Given the description of an element on the screen output the (x, y) to click on. 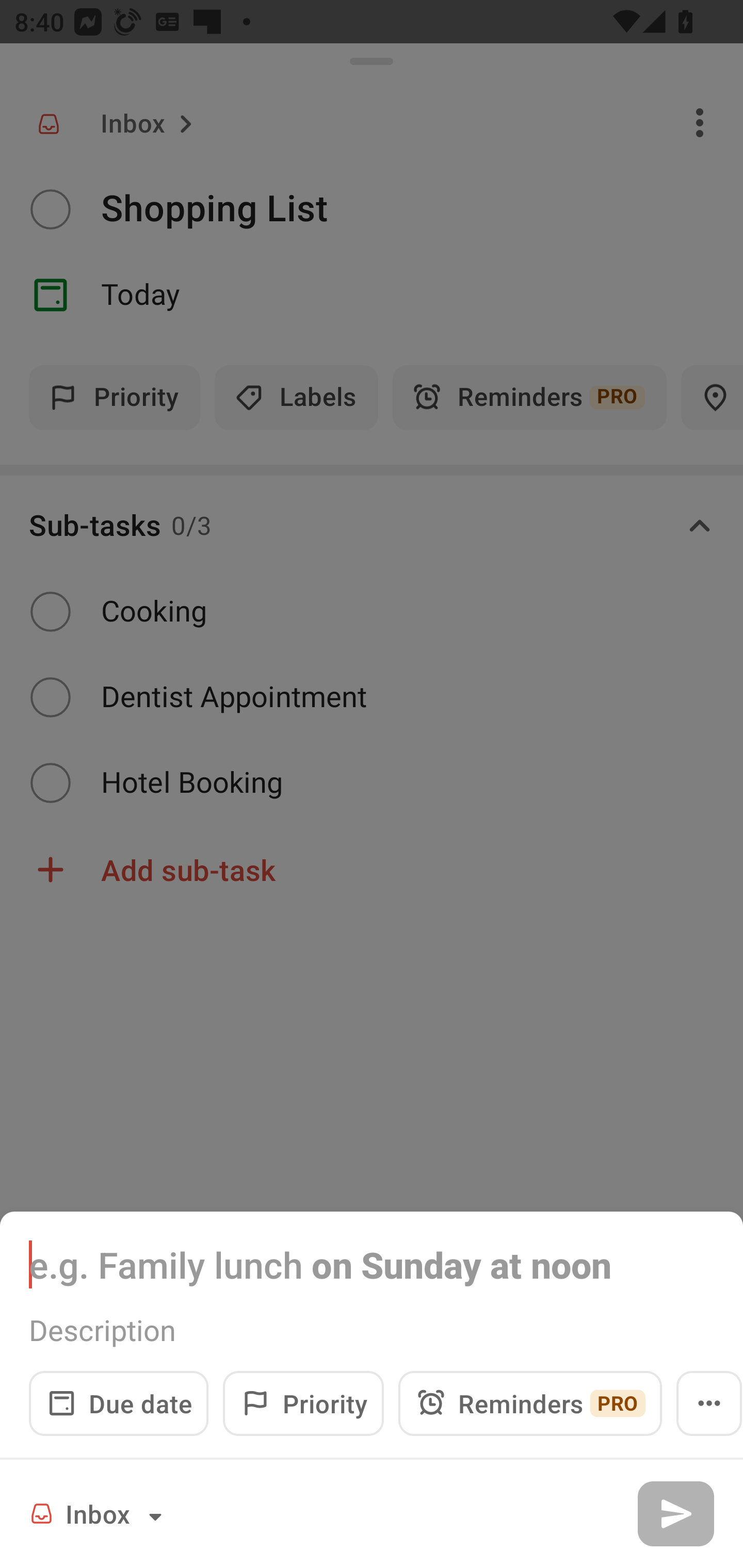
e.g. Family lunch on Sunday at noon (371, 1264)
Description (371, 1330)
Due date Date (118, 1403)
Priority (303, 1403)
Reminders PRO Reminders (530, 1403)
Open menu (709, 1403)
Inbox Project (99, 1513)
Add (675, 1513)
